Given the description of an element on the screen output the (x, y) to click on. 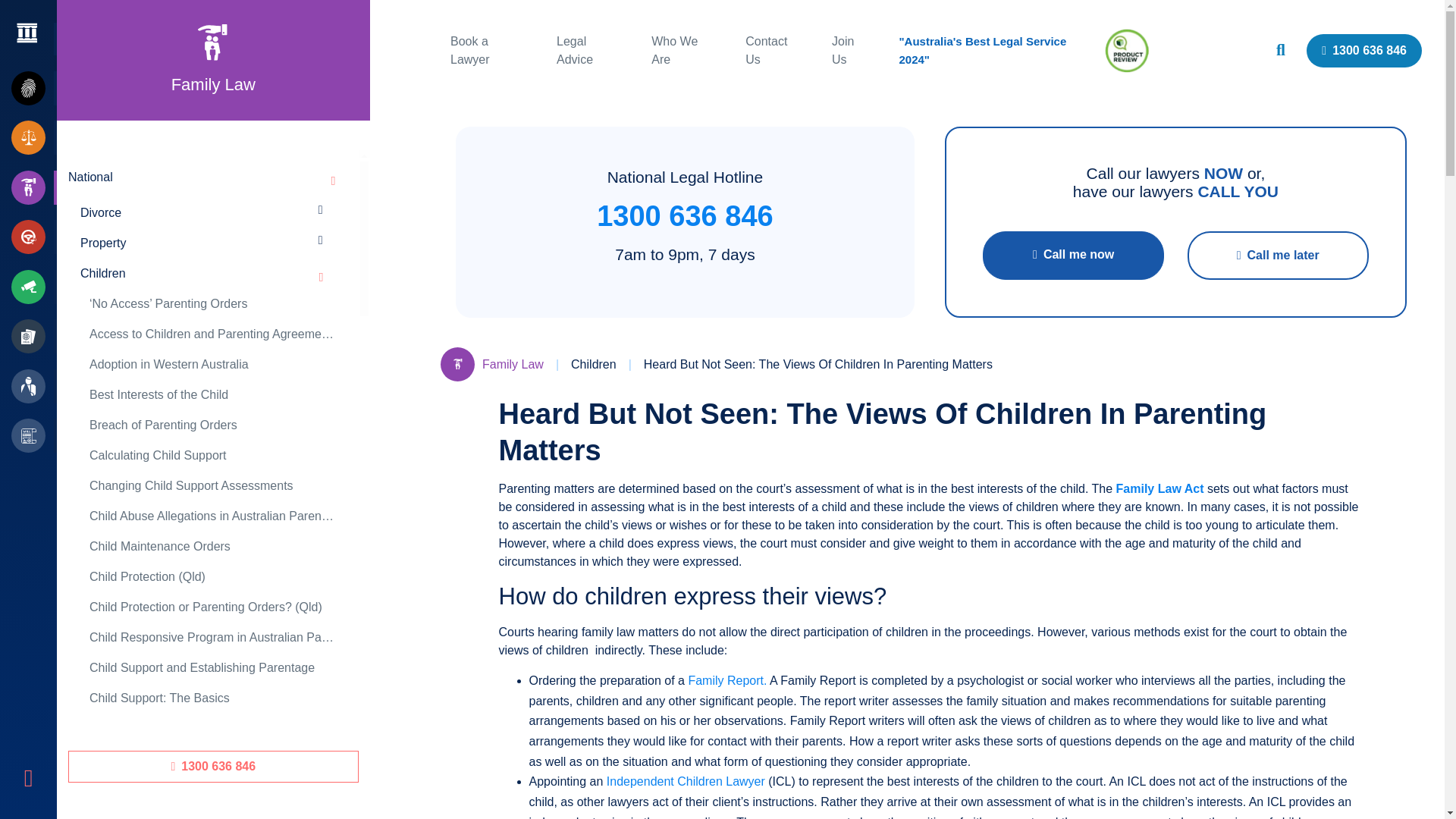
Family Law (32, 186)
Criminal Law (32, 88)
Compensation (32, 385)
Immigration (32, 335)
Civil Law (32, 137)
Traffic Law (32, 286)
Drink Driving (32, 236)
Wills (32, 435)
